Given the description of an element on the screen output the (x, y) to click on. 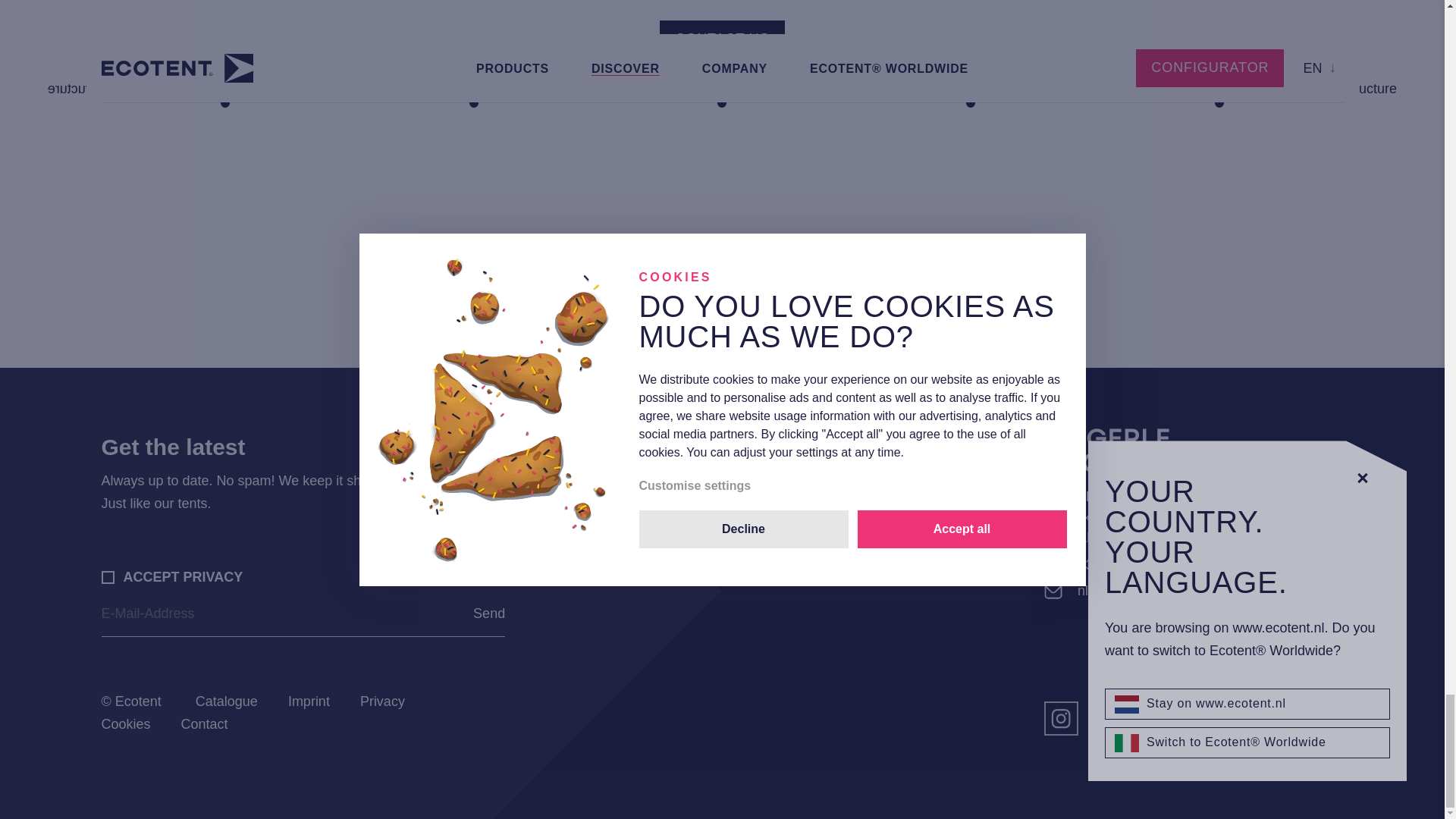
on (108, 576)
